Given the description of an element on the screen output the (x, y) to click on. 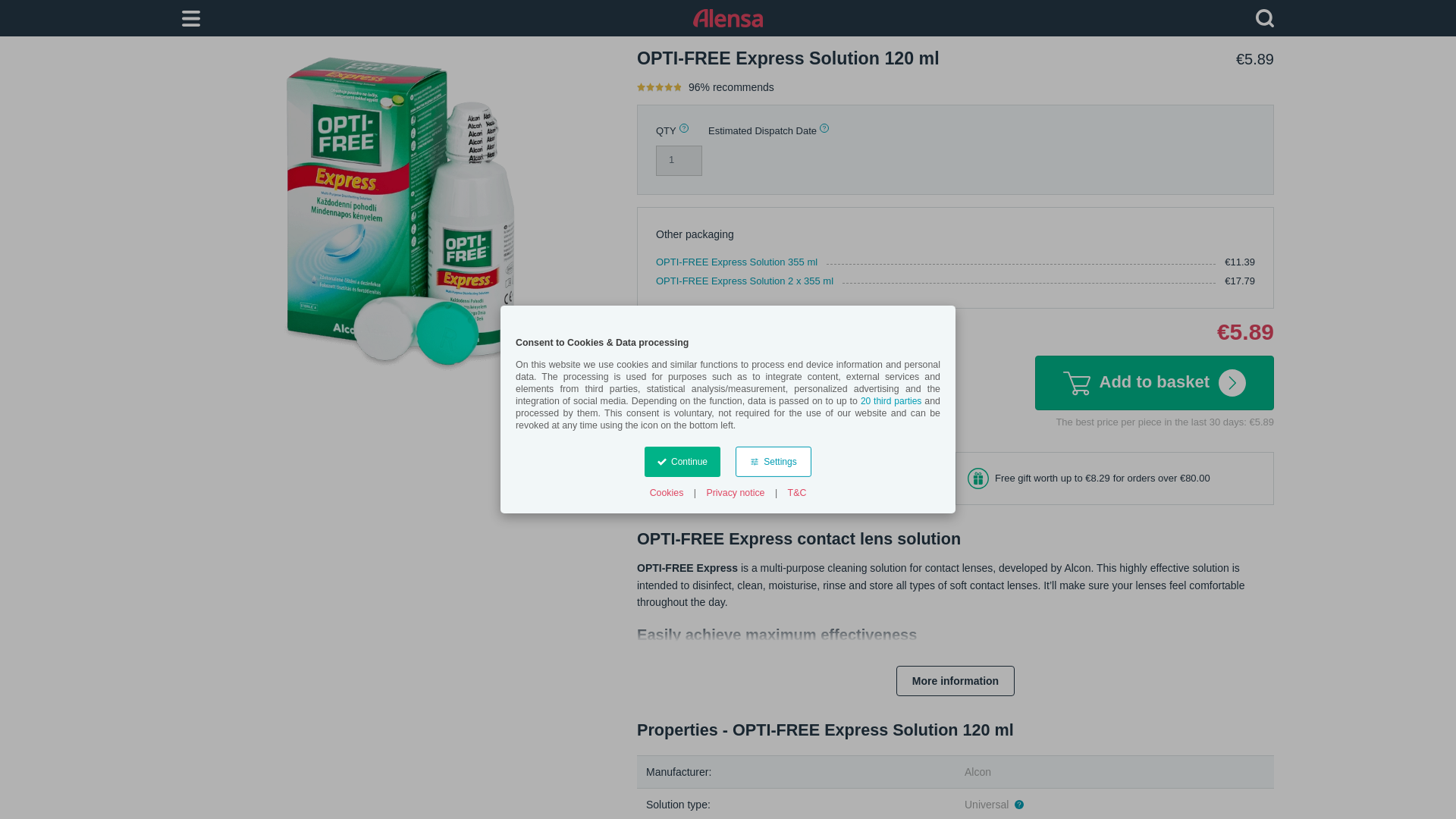
Continue (682, 461)
Cookies (666, 493)
Settings (772, 461)
Privacy notice (734, 493)
What are you looking for?  (1264, 18)
20 third parties (890, 400)
